Given the description of an element on the screen output the (x, y) to click on. 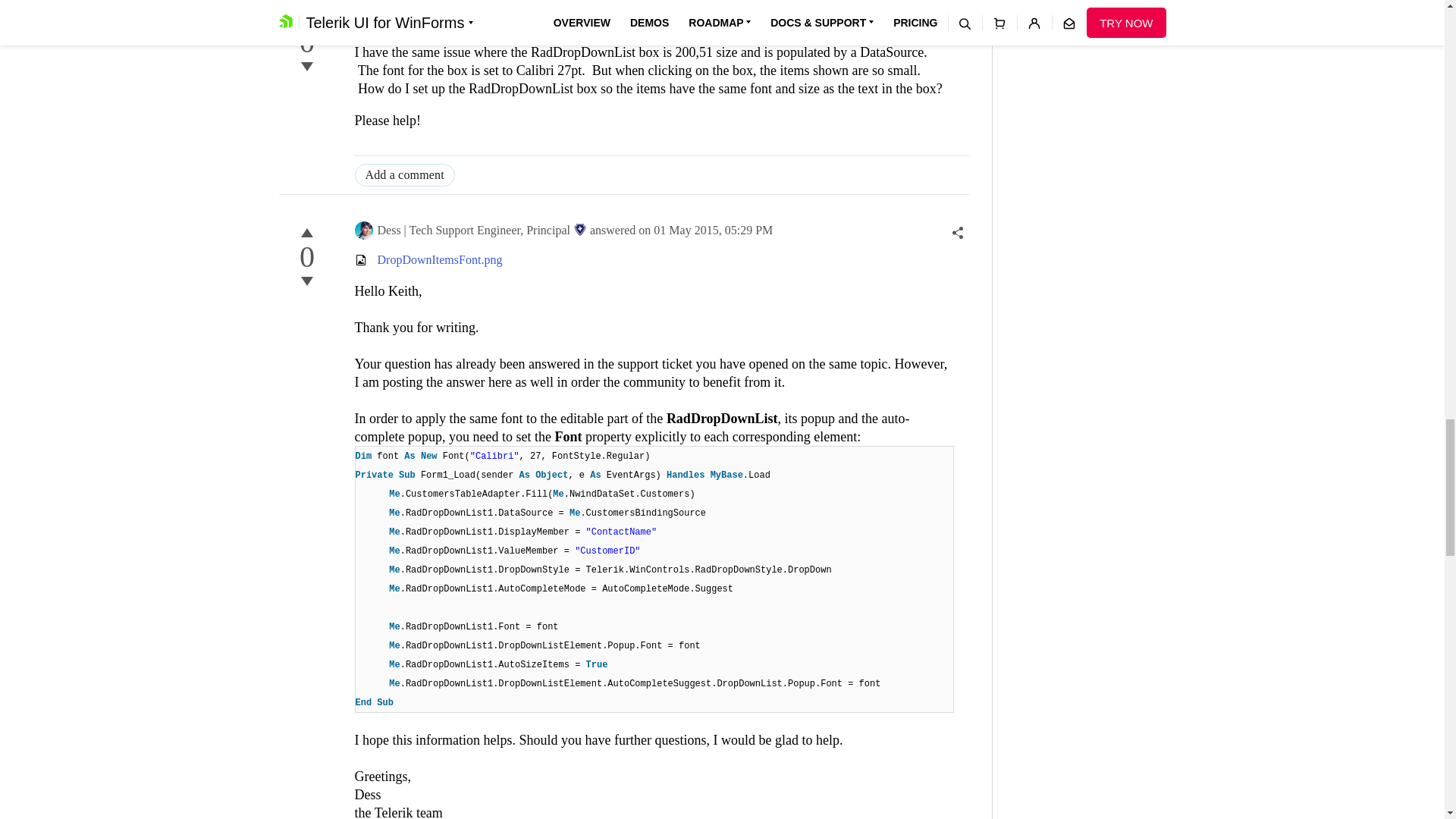
This answer is helpful. (306, 232)
This answer is helpful. (306, 17)
This answer is not helpful. (306, 66)
This answer is not helpful. (306, 281)
